Given the description of an element on the screen output the (x, y) to click on. 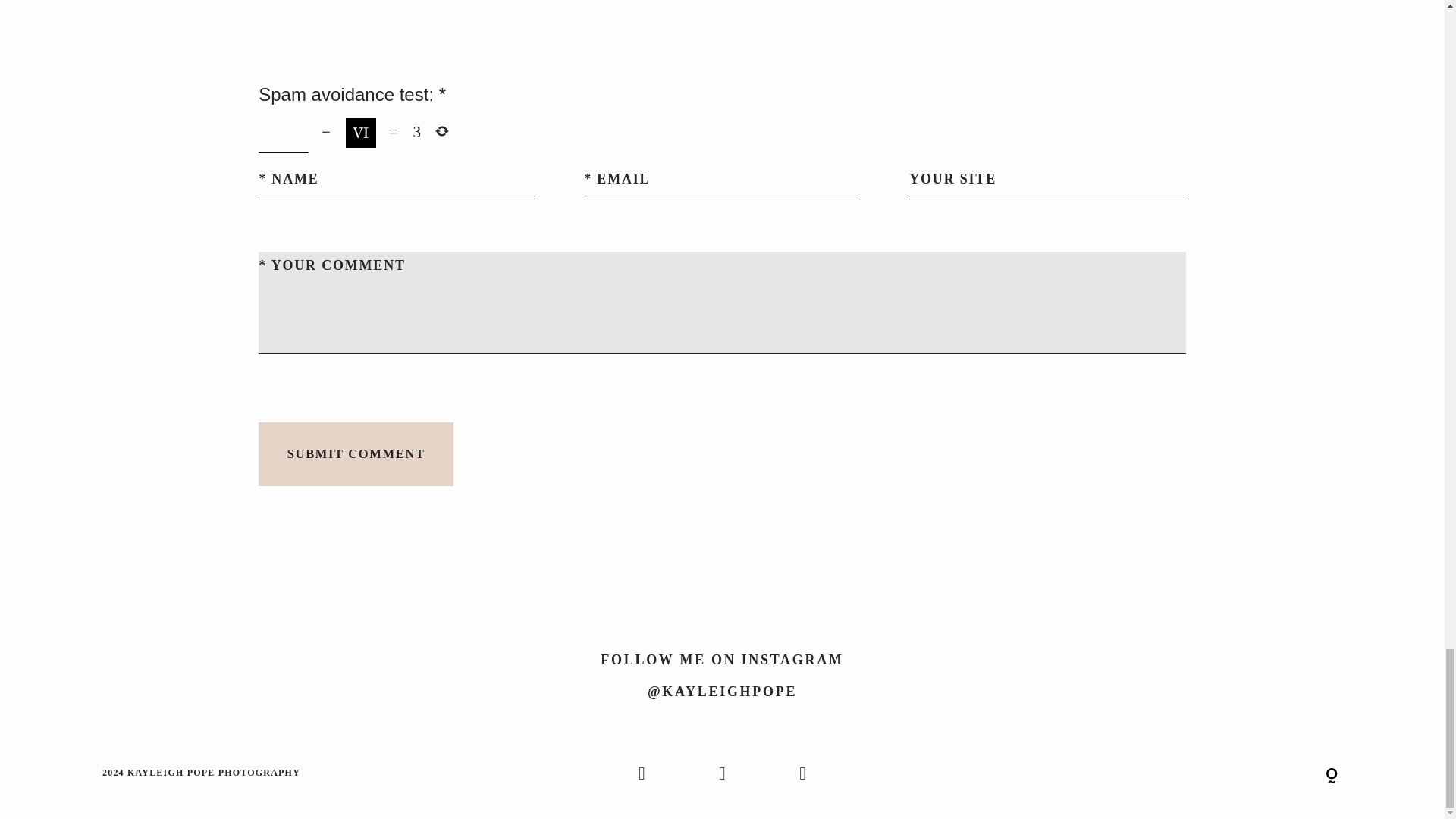
Sorry, your browser does not support inline SVG. (1135, 773)
Sorry, your browser does not support inline SVG. (1331, 776)
SUBMIT COMMENT (355, 454)
